Given the description of an element on the screen output the (x, y) to click on. 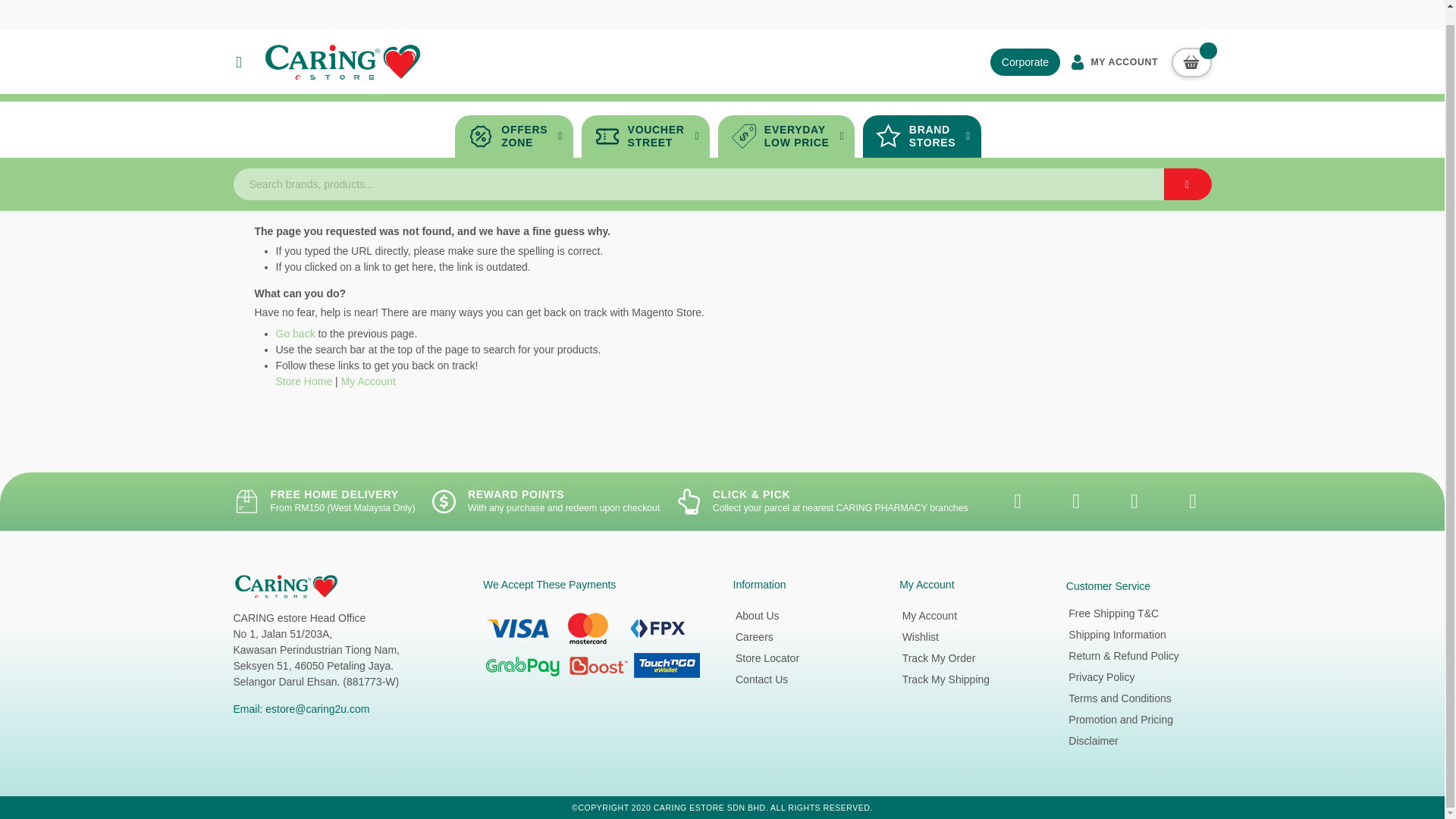
MY CART (1190, 47)
MY ACCOUNT (645, 121)
Search (785, 121)
Corporate (1112, 47)
TOGGLE NAV (1187, 169)
